Given the description of an element on the screen output the (x, y) to click on. 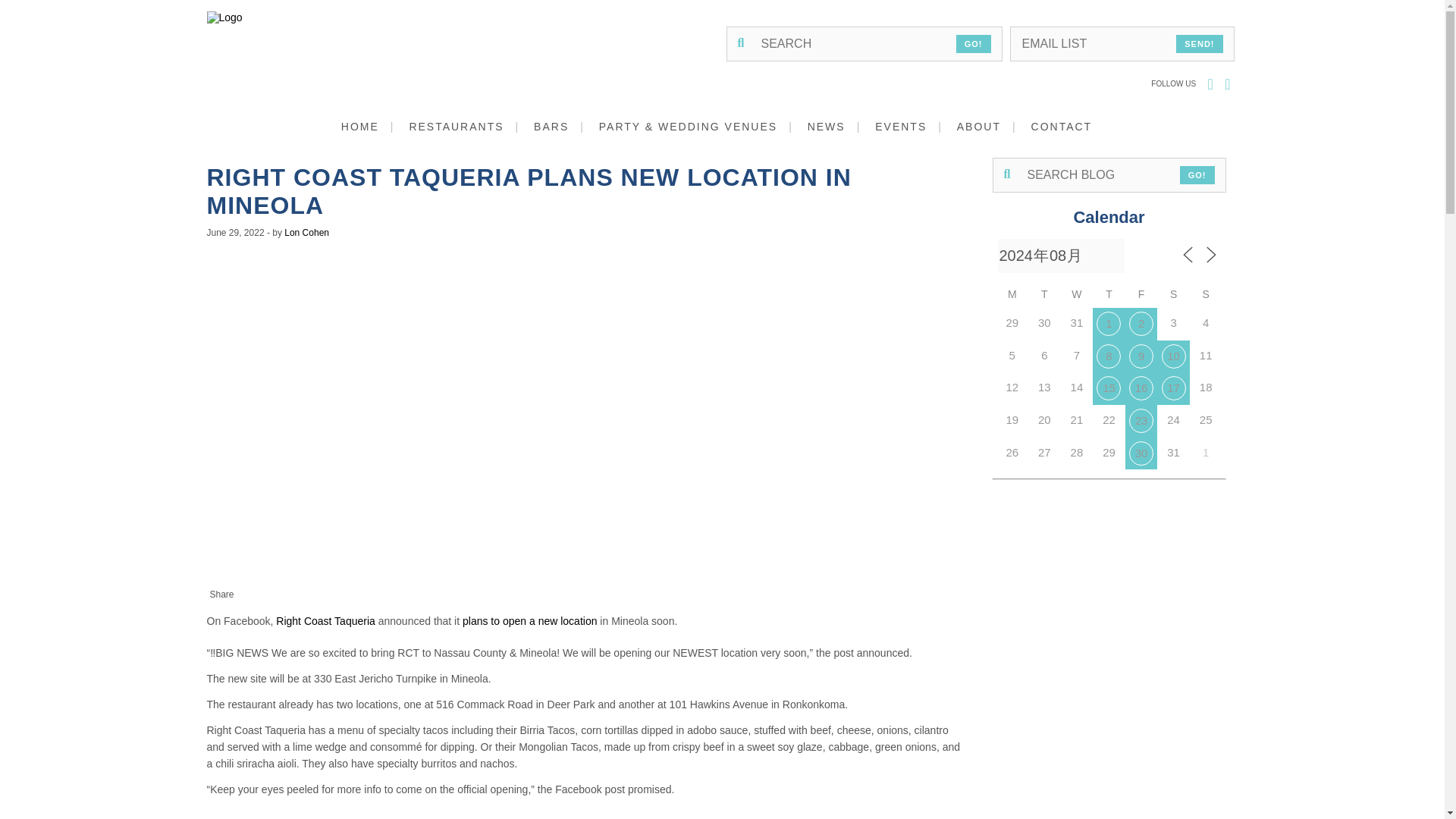
Right Coast Taqueria (325, 621)
2024-08 (1060, 255)
Hayground Farmers Market (1141, 323)
GO! (973, 44)
CONTACT (1066, 126)
GO! (1196, 175)
Posts by Lon Cohen (306, 232)
GO! (973, 44)
Share (220, 594)
NEWS (840, 126)
